Given the description of an element on the screen output the (x, y) to click on. 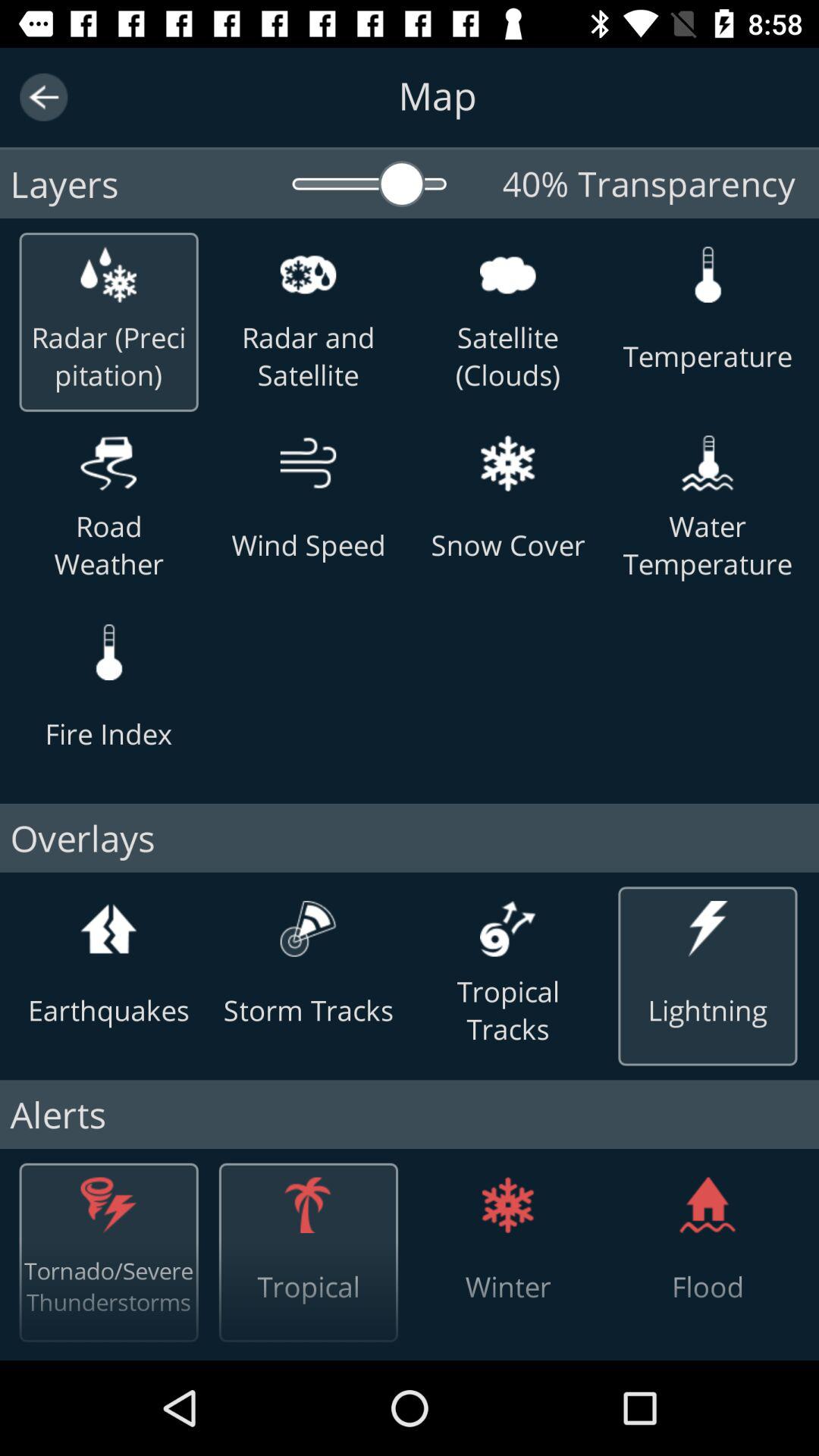
tap the item next to the map item (43, 97)
